Given the description of an element on the screen output the (x, y) to click on. 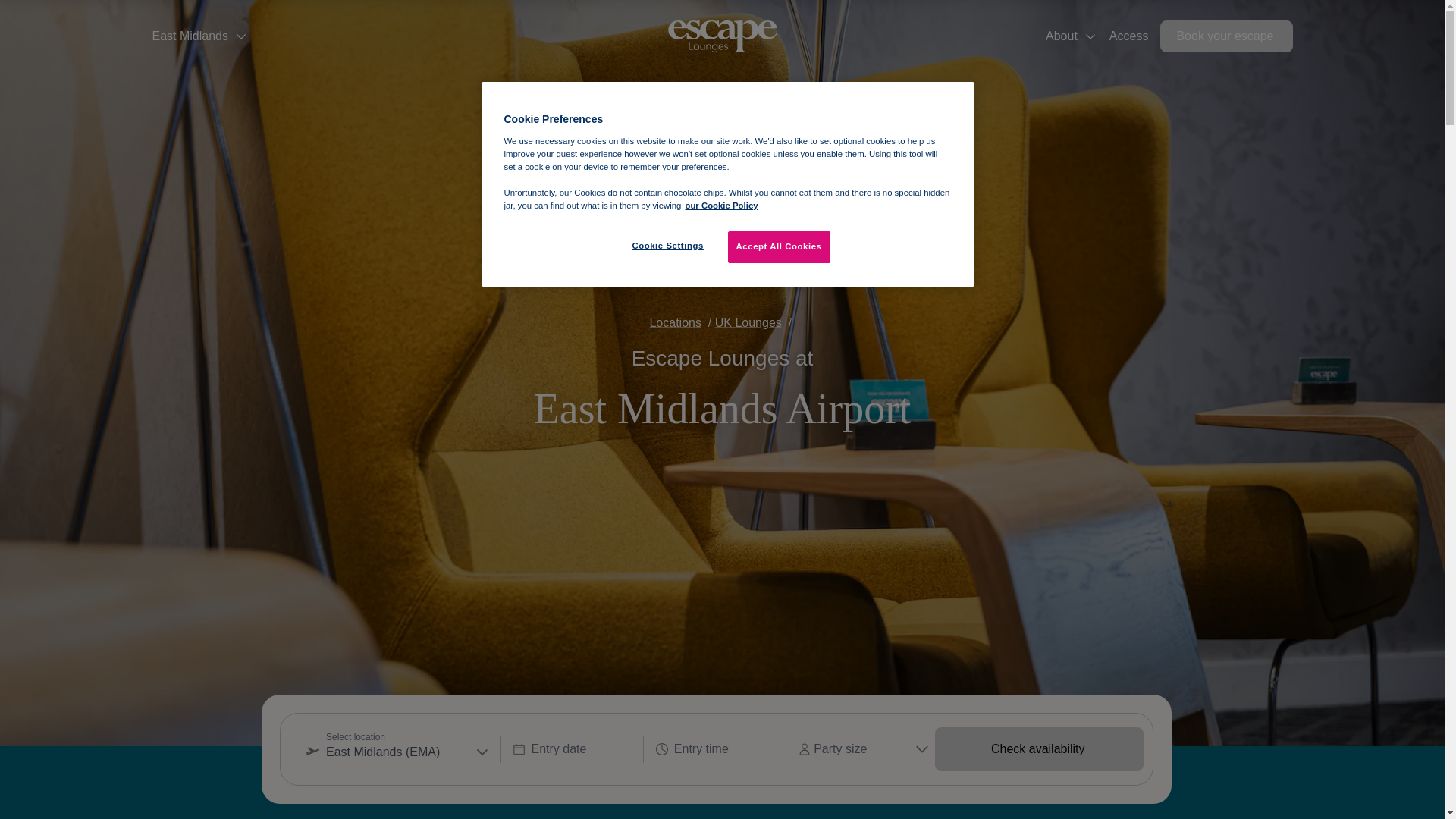
Check availability (1038, 749)
Locations (675, 321)
UK Lounges (747, 321)
Book your escape (1226, 36)
East Midlands (199, 36)
Access (1128, 36)
